Given the description of an element on the screen output the (x, y) to click on. 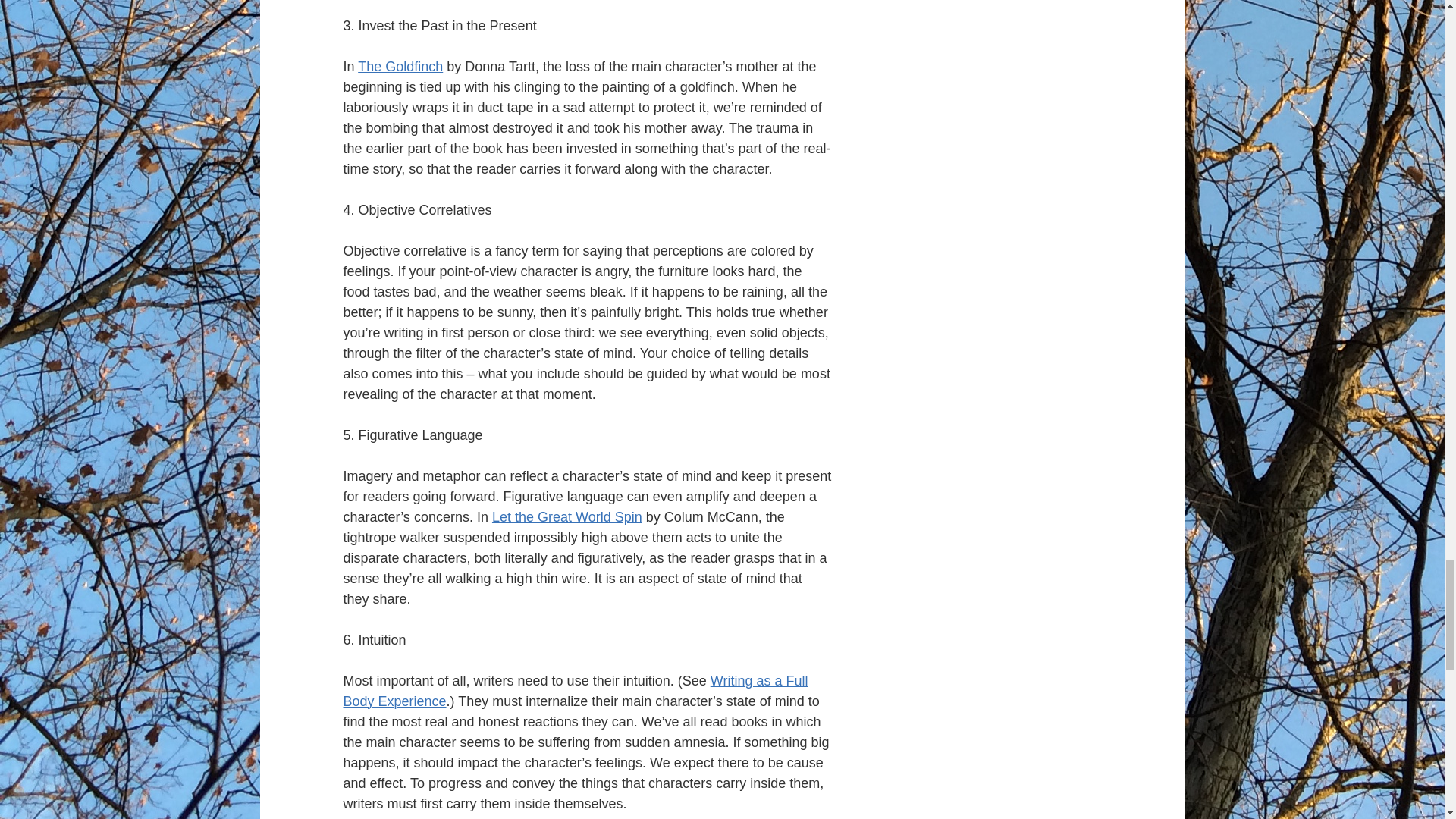
Let the Great World Spin (567, 516)
The Goldfinch (400, 66)
Writing as a Full Body Experience (575, 691)
